Given the description of an element on the screen output the (x, y) to click on. 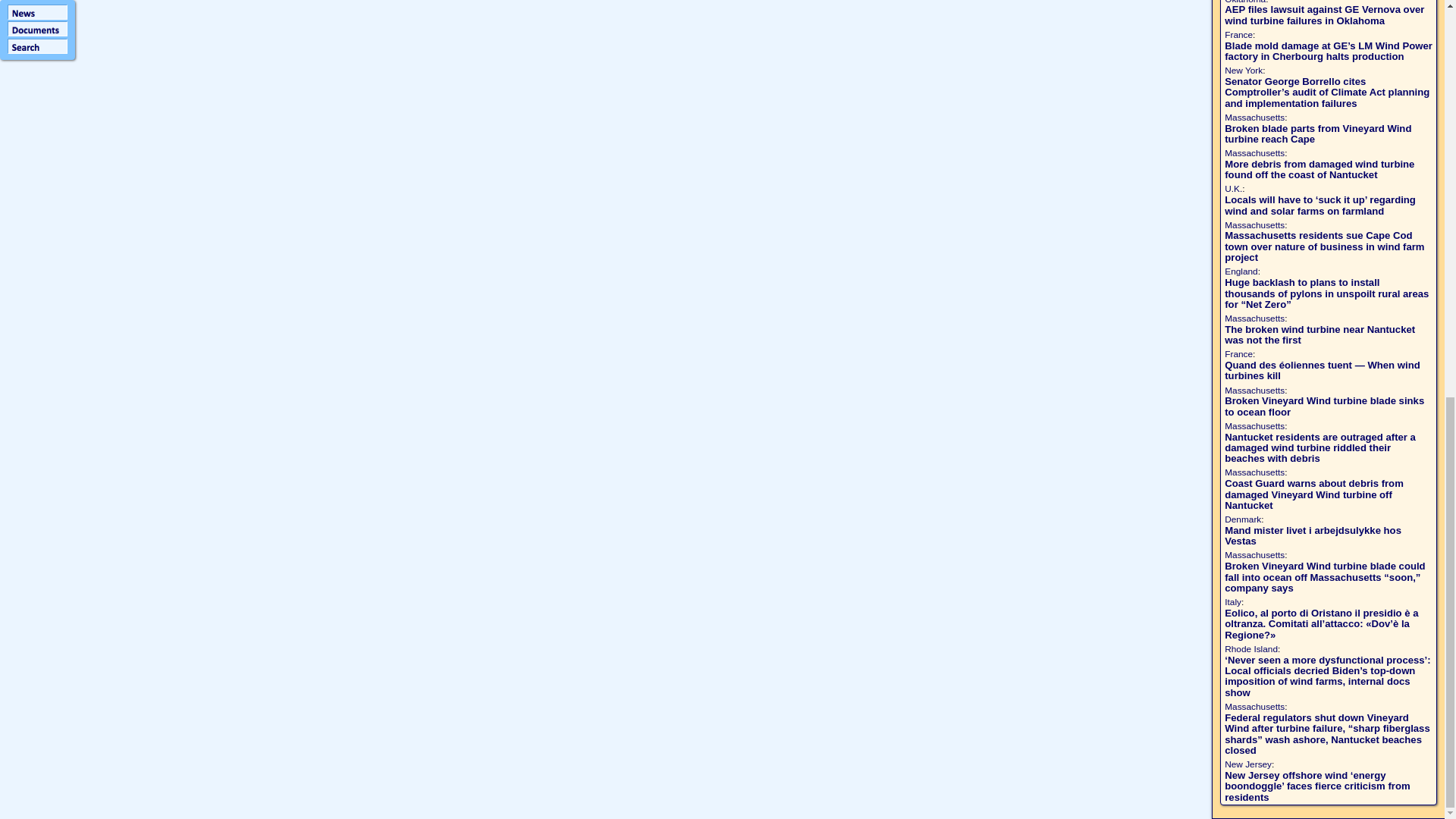
Oklahoma (1244, 2)
